Given the description of an element on the screen output the (x, y) to click on. 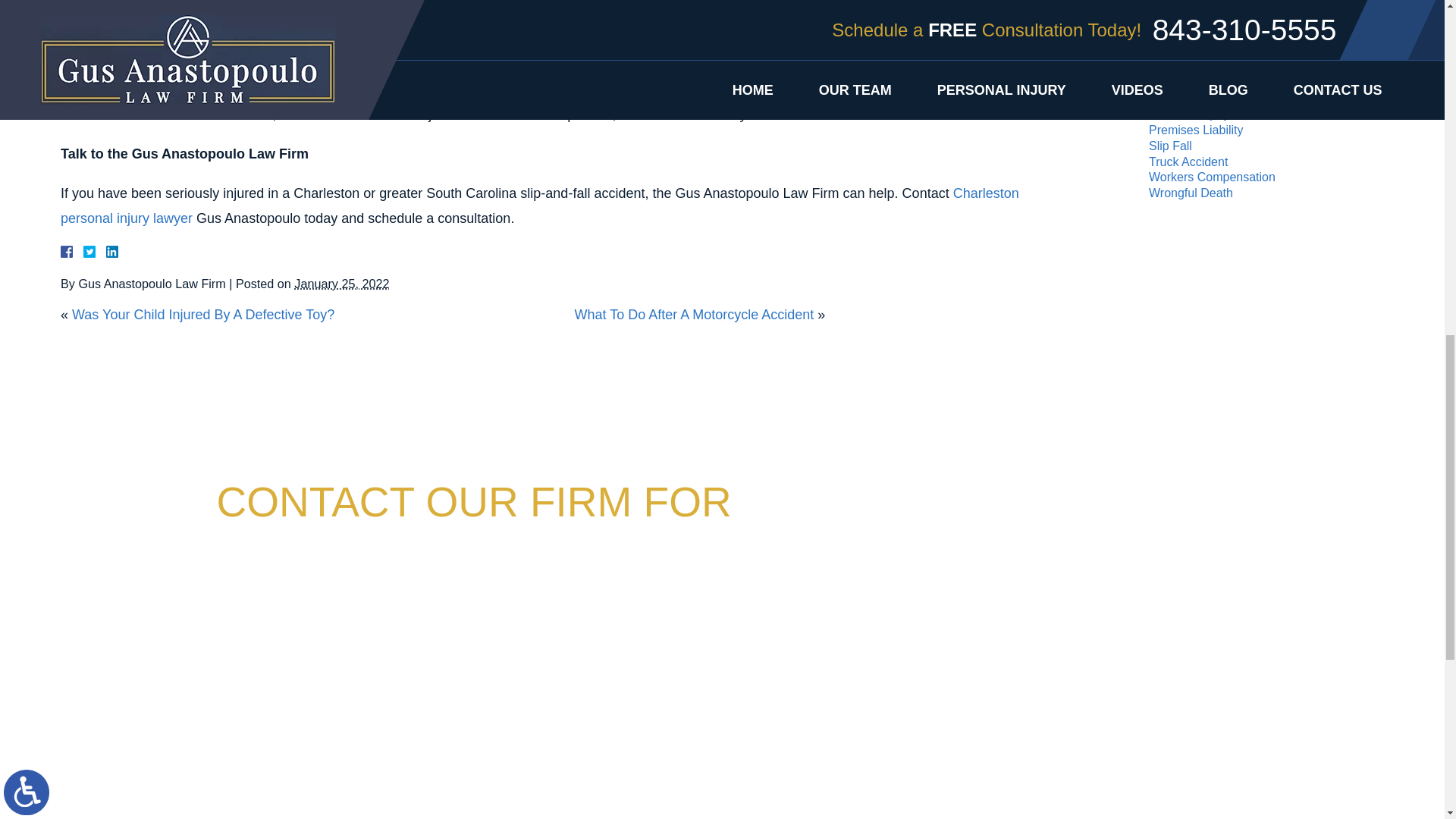
LinkedIn (106, 251)
Twitter (95, 251)
Facebook (85, 251)
2022-01-25T03:00:40-0800 (341, 283)
